Given the description of an element on the screen output the (x, y) to click on. 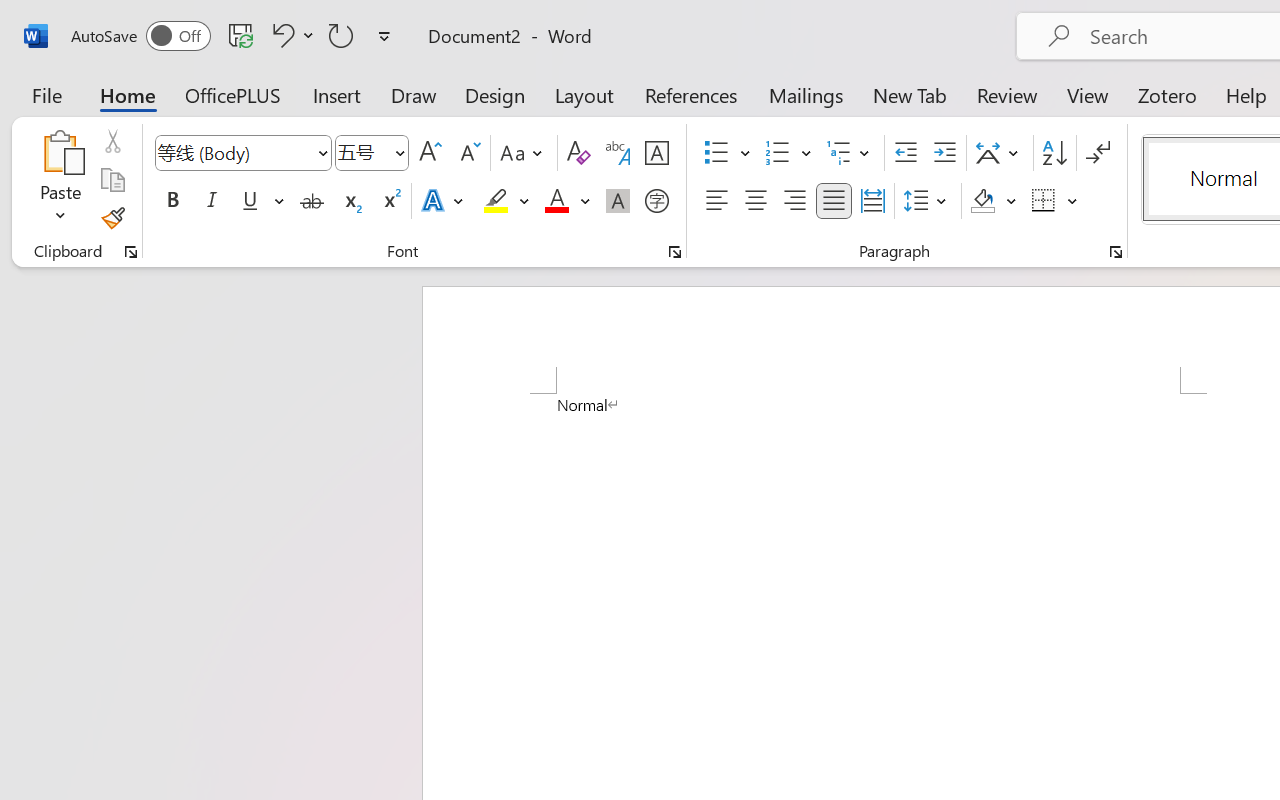
Borders (1055, 201)
Design (495, 94)
New Tab (909, 94)
Bullets (727, 153)
Paste (60, 179)
Phonetic Guide... (618, 153)
Sort... (1054, 153)
Superscript (390, 201)
Repeat Doc Close (341, 35)
AutoSave (140, 35)
Grow Font (430, 153)
Character Shading (618, 201)
More Options (1073, 201)
Line and Paragraph Spacing (927, 201)
Shrink Font (468, 153)
